Given the description of an element on the screen output the (x, y) to click on. 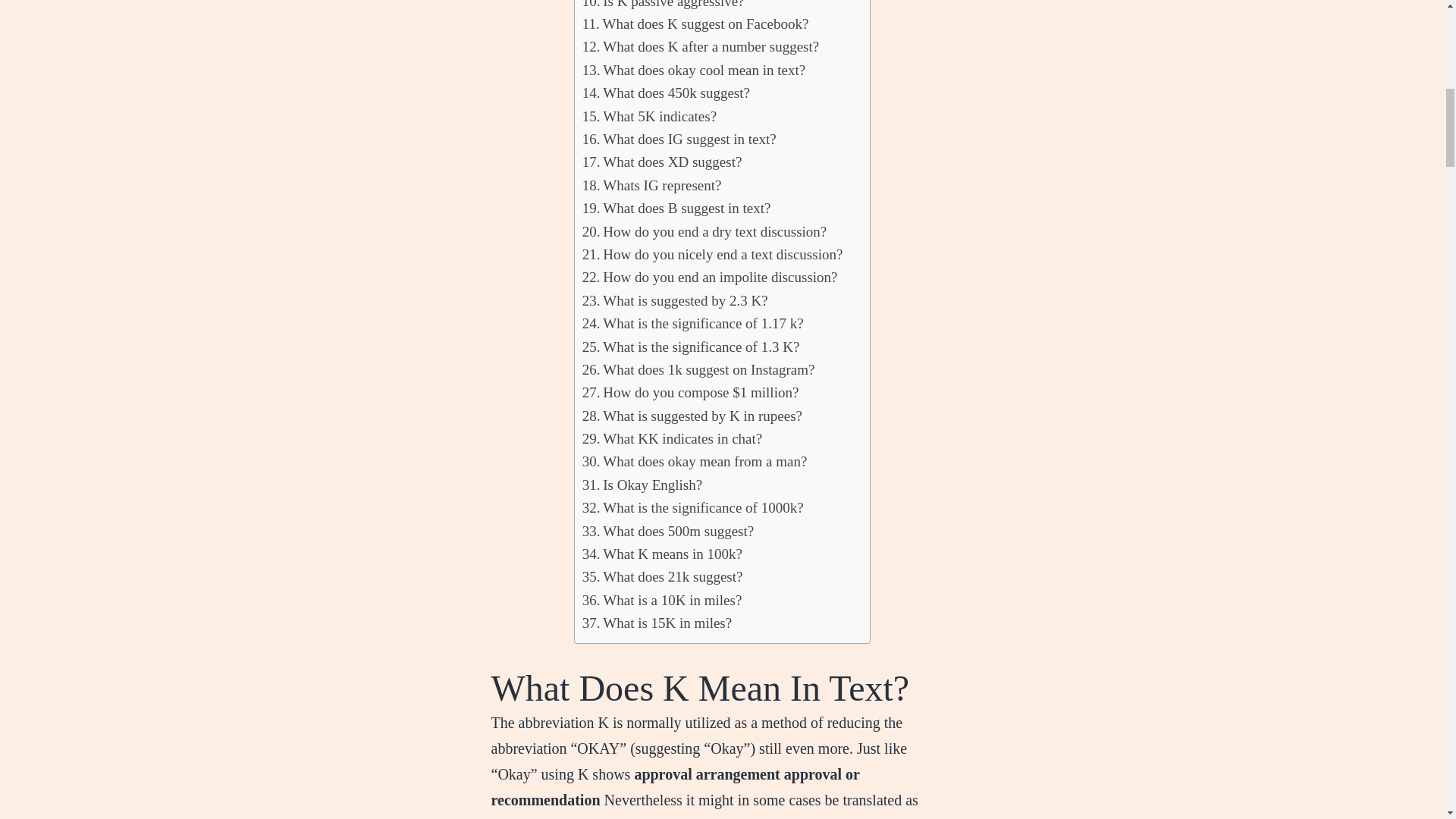
What does 450k suggest? (665, 92)
What does K after a number suggest? (700, 47)
What is suggested by 2.3 K? (675, 300)
What does okay cool mean in text? (694, 69)
What K means in 100k? (662, 553)
What is the significance of 1000k? (692, 507)
What does XD suggest? (662, 161)
How do you end a dry text discussion? (704, 231)
Whats IG represent? (652, 185)
What is suggested by K in rupees? (692, 415)
